Given the description of an element on the screen output the (x, y) to click on. 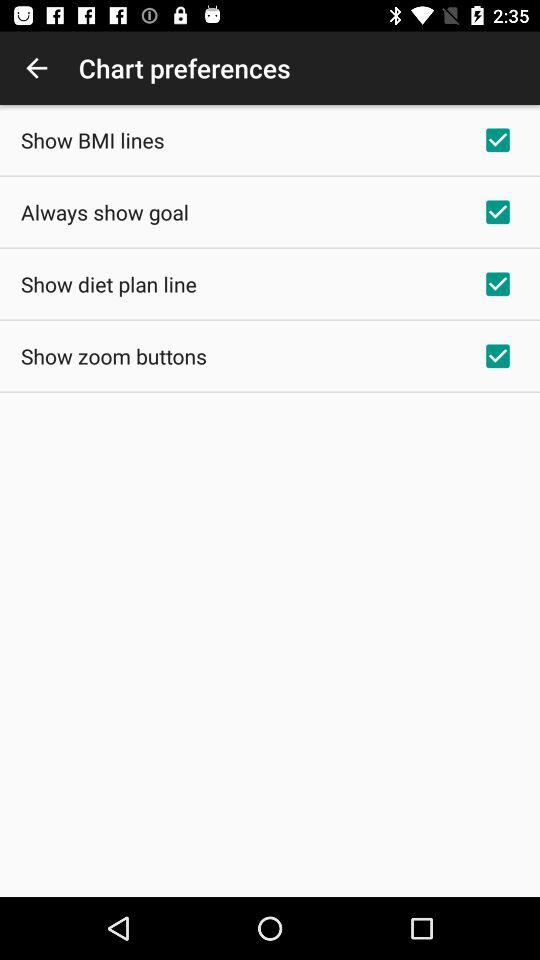
press icon below show diet plan (113, 355)
